Given the description of an element on the screen output the (x, y) to click on. 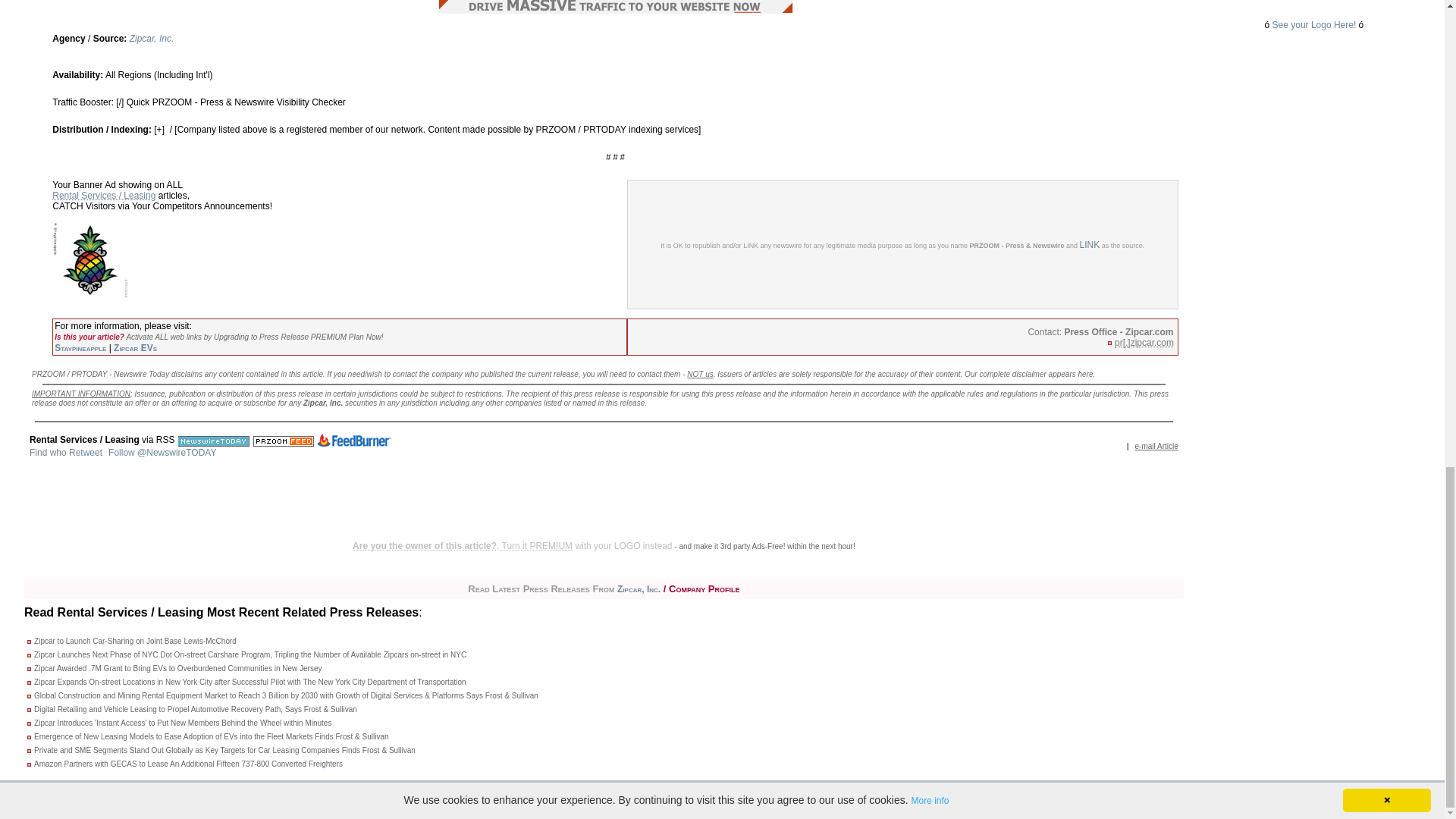
LINK (1090, 244)
here (1085, 373)
Staypineapple (80, 347)
Zipcar, Inc. (151, 38)
Zipcar EVs (135, 347)
Find who Retweet (65, 452)
